Given the description of an element on the screen output the (x, y) to click on. 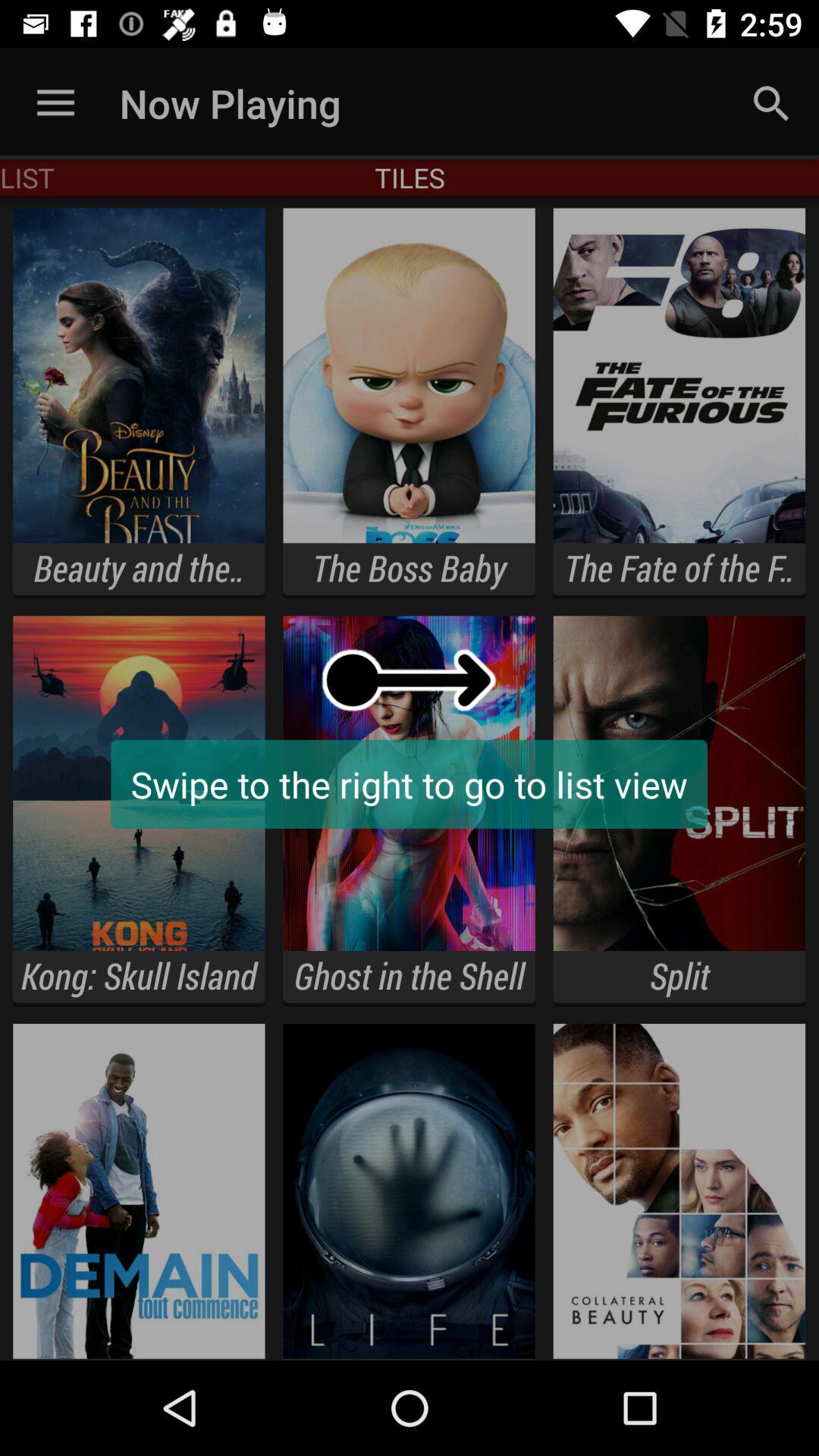
launch the icon next to now playing (55, 103)
